Given the description of an element on the screen output the (x, y) to click on. 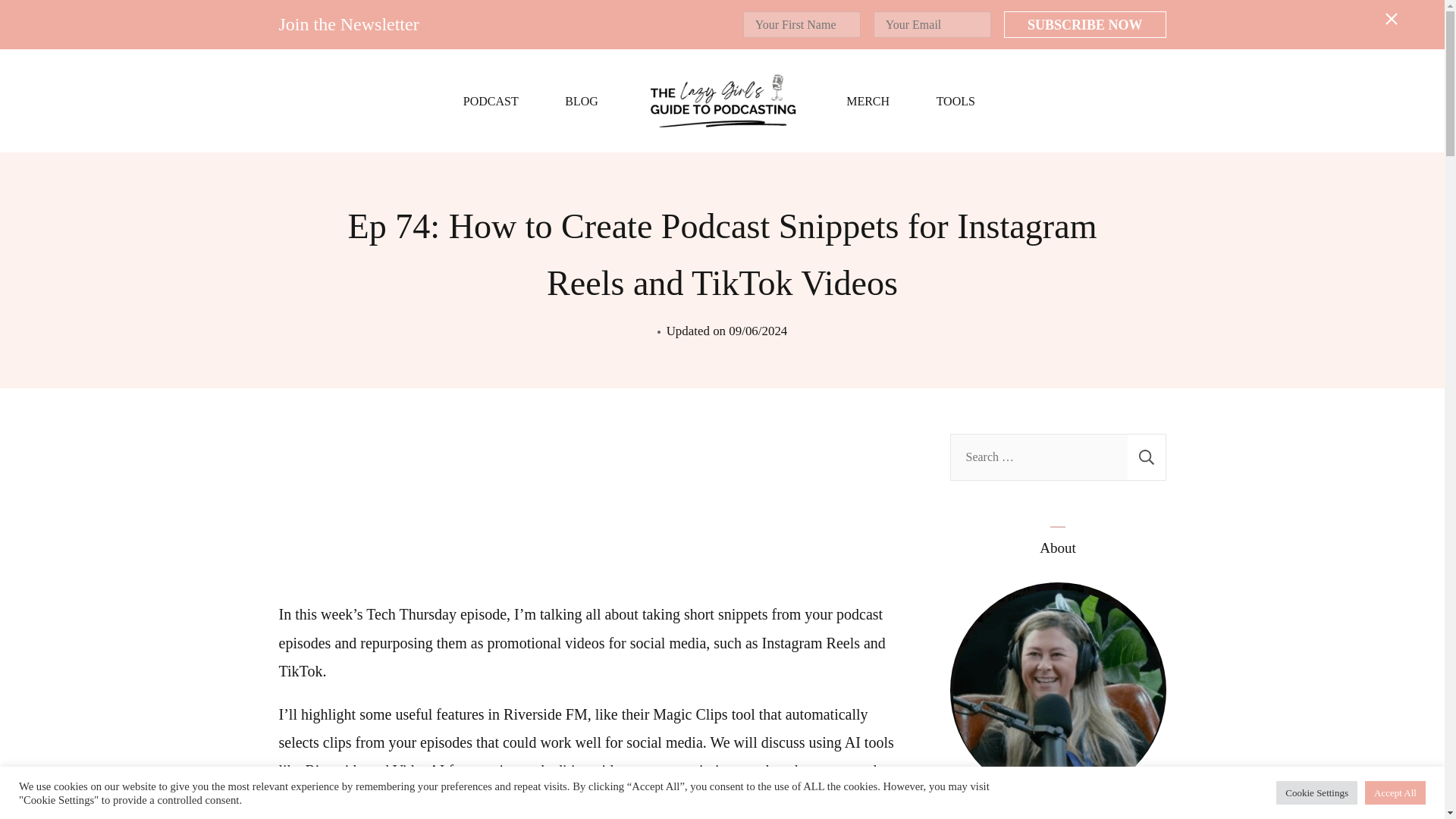
PODCAST (490, 101)
SUBSCRIBE NOW (1085, 24)
MERCH (867, 101)
TOOLS (955, 101)
SUBSCRIBE NOW (1085, 24)
BLOG (581, 101)
